Given the description of an element on the screen output the (x, y) to click on. 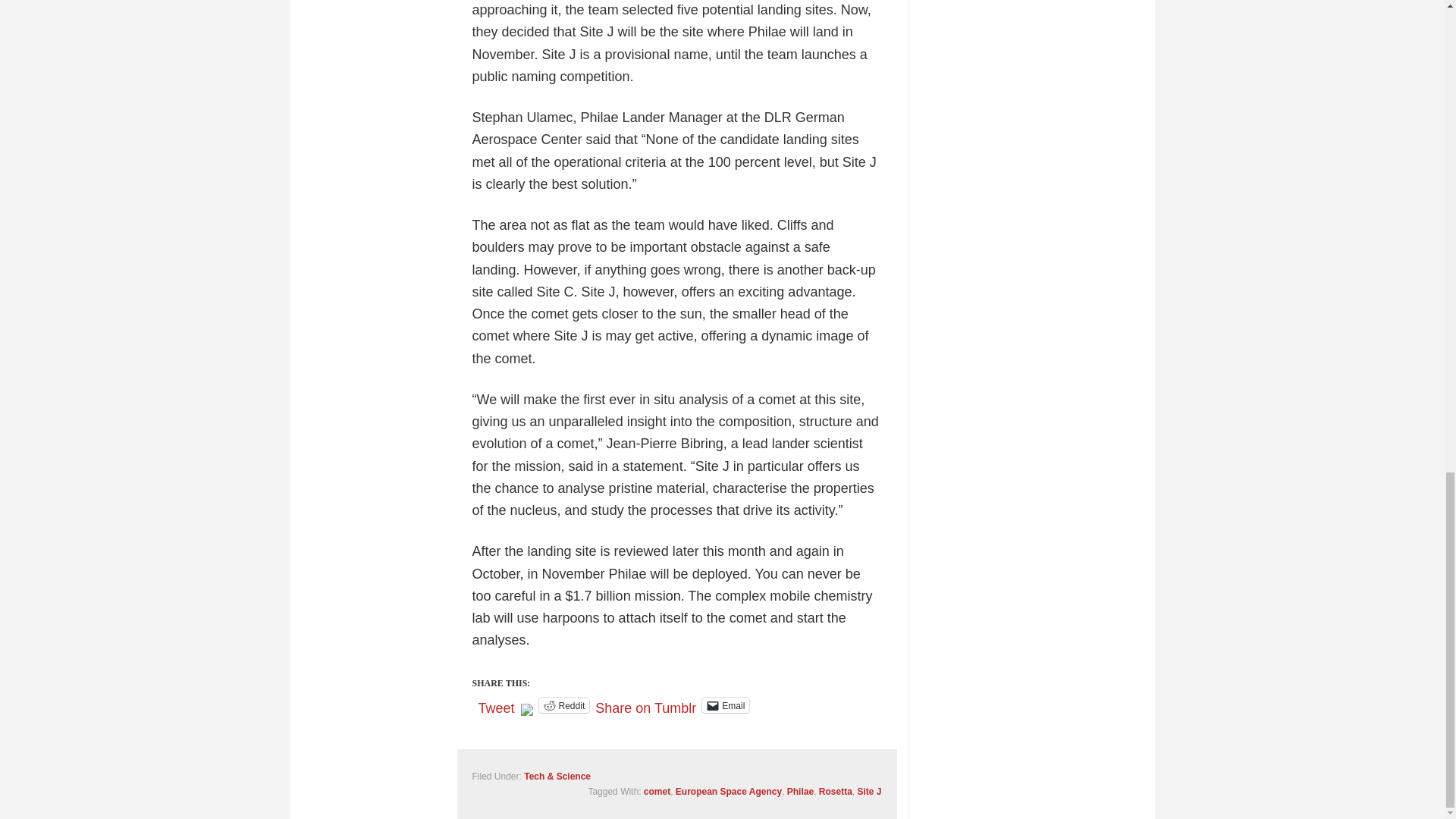
Share on Tumblr (645, 704)
Click to email a link to a friend (725, 704)
European Space Agency (728, 791)
comet (656, 791)
Tweet (495, 704)
Click to share on Reddit (563, 704)
Email (725, 704)
Site J (868, 791)
Philae (800, 791)
Share on Tumblr (645, 704)
